Given the description of an element on the screen output the (x, y) to click on. 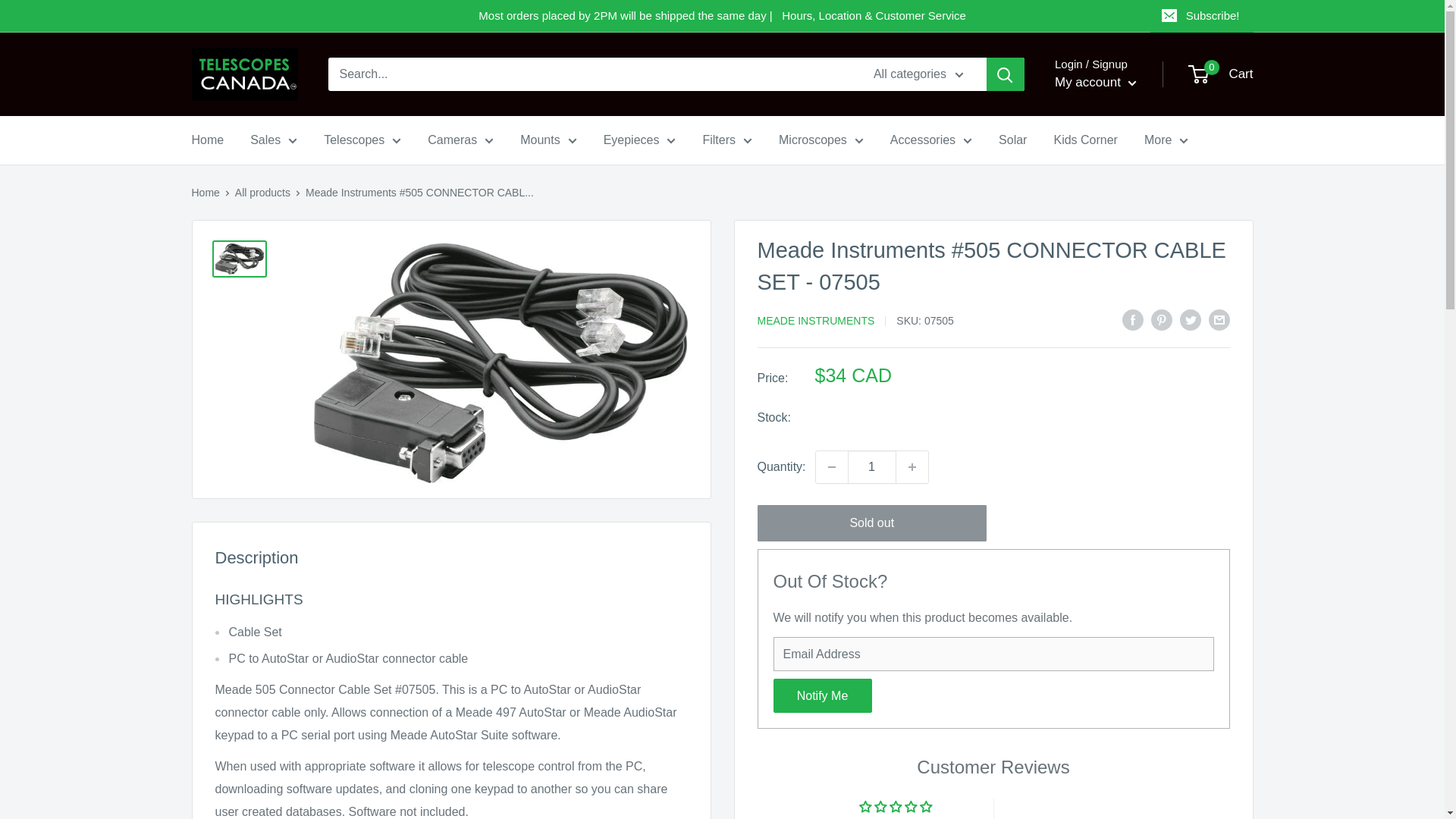
Subscribe! (1201, 15)
Decrease quantity by 1 (831, 467)
1 (871, 467)
Increase quantity by 1 (912, 467)
